Given the description of an element on the screen output the (x, y) to click on. 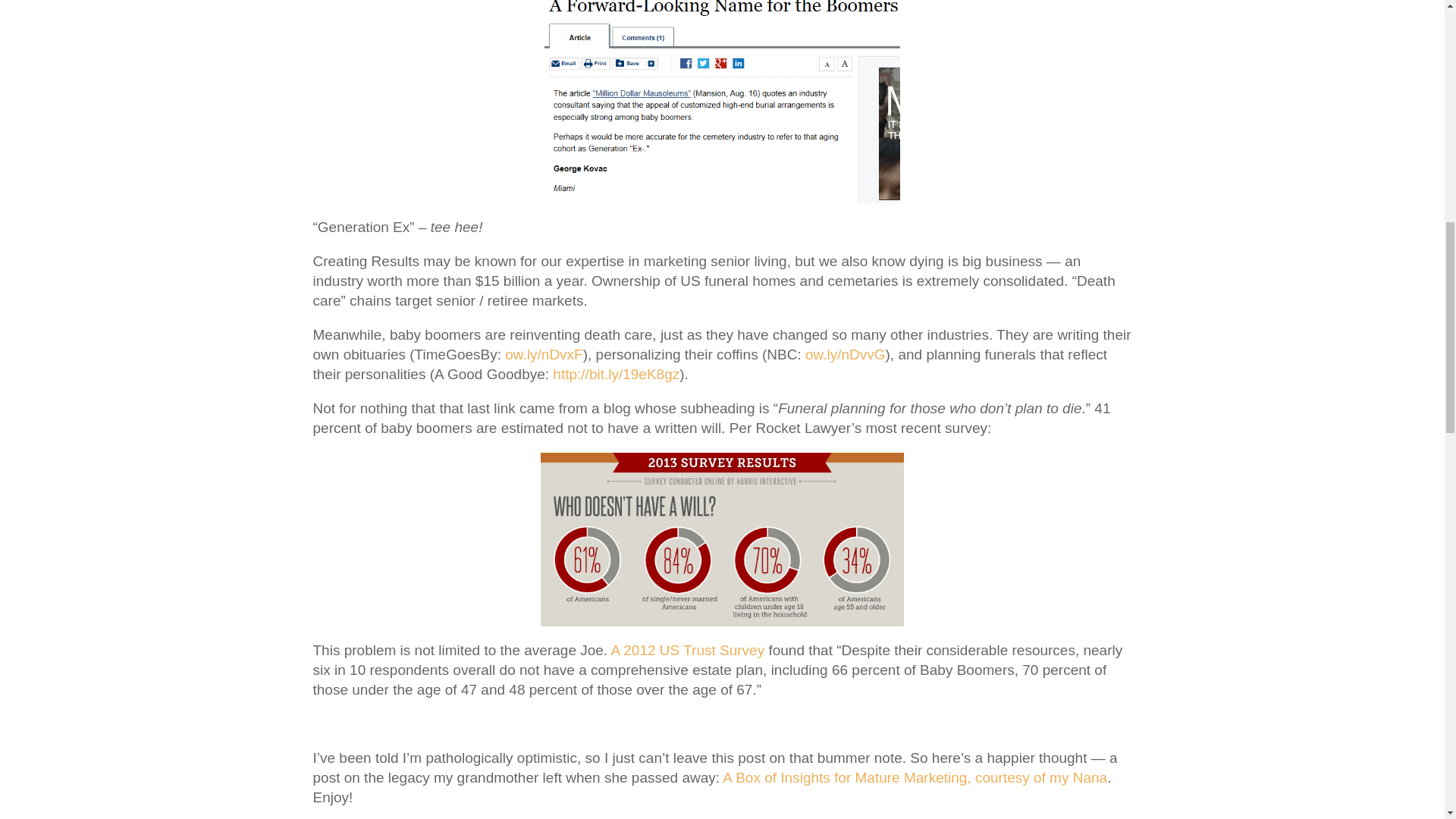
A 2012 US Trust Survey (689, 650)
US trust wealth and worth survey (689, 650)
A Box of Insights for Mature Marketing, courtesy of my Nana (914, 777)
